Given the description of an element on the screen output the (x, y) to click on. 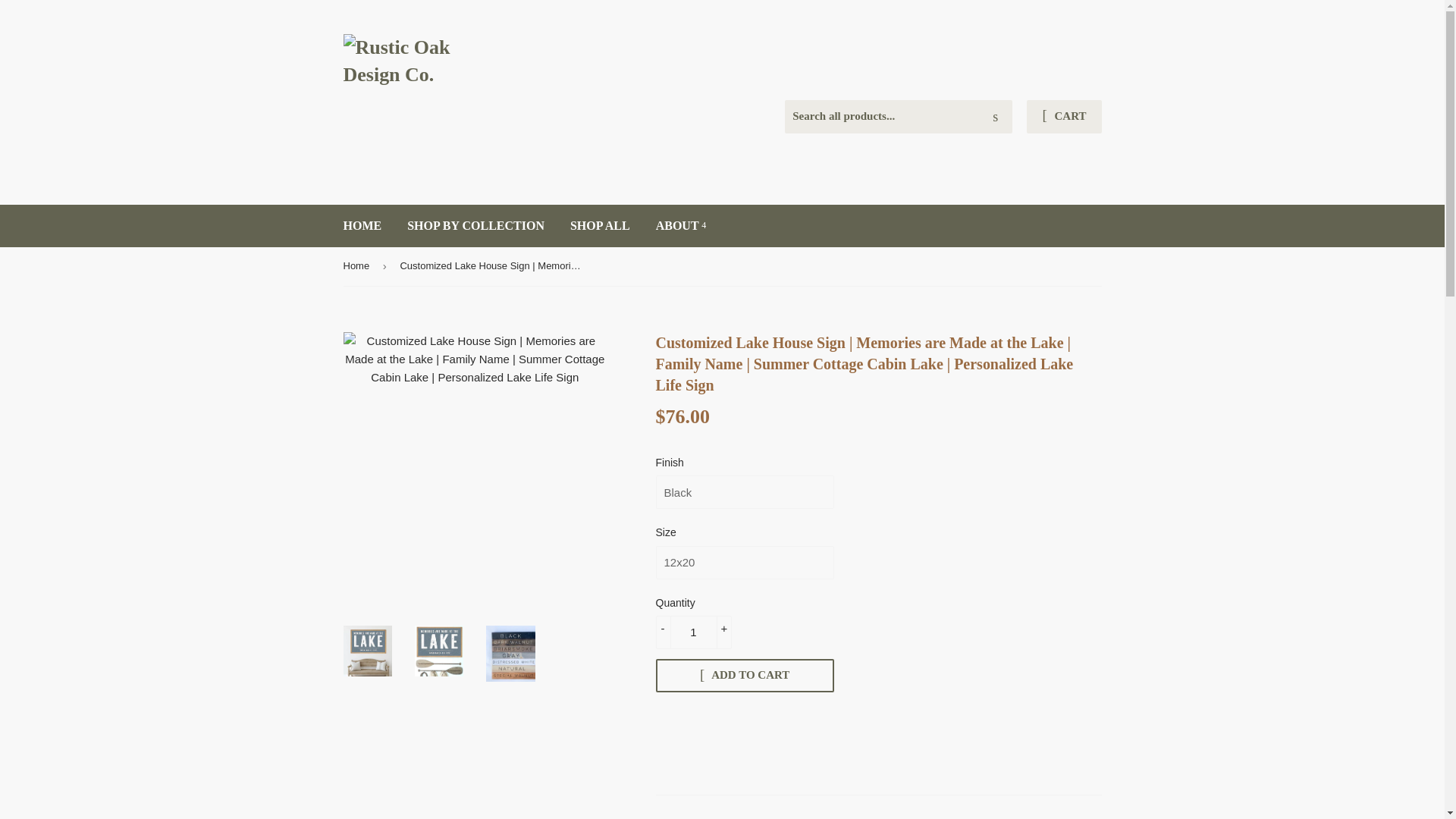
Home (358, 266)
CART (1063, 116)
Back to the frontpage (358, 266)
SHOP BY COLLECTION (476, 225)
ADD TO CART (743, 675)
Search (994, 117)
SHOP ALL (600, 225)
HOME (362, 225)
1 (692, 632)
ABOUT (681, 225)
